Given the description of an element on the screen output the (x, y) to click on. 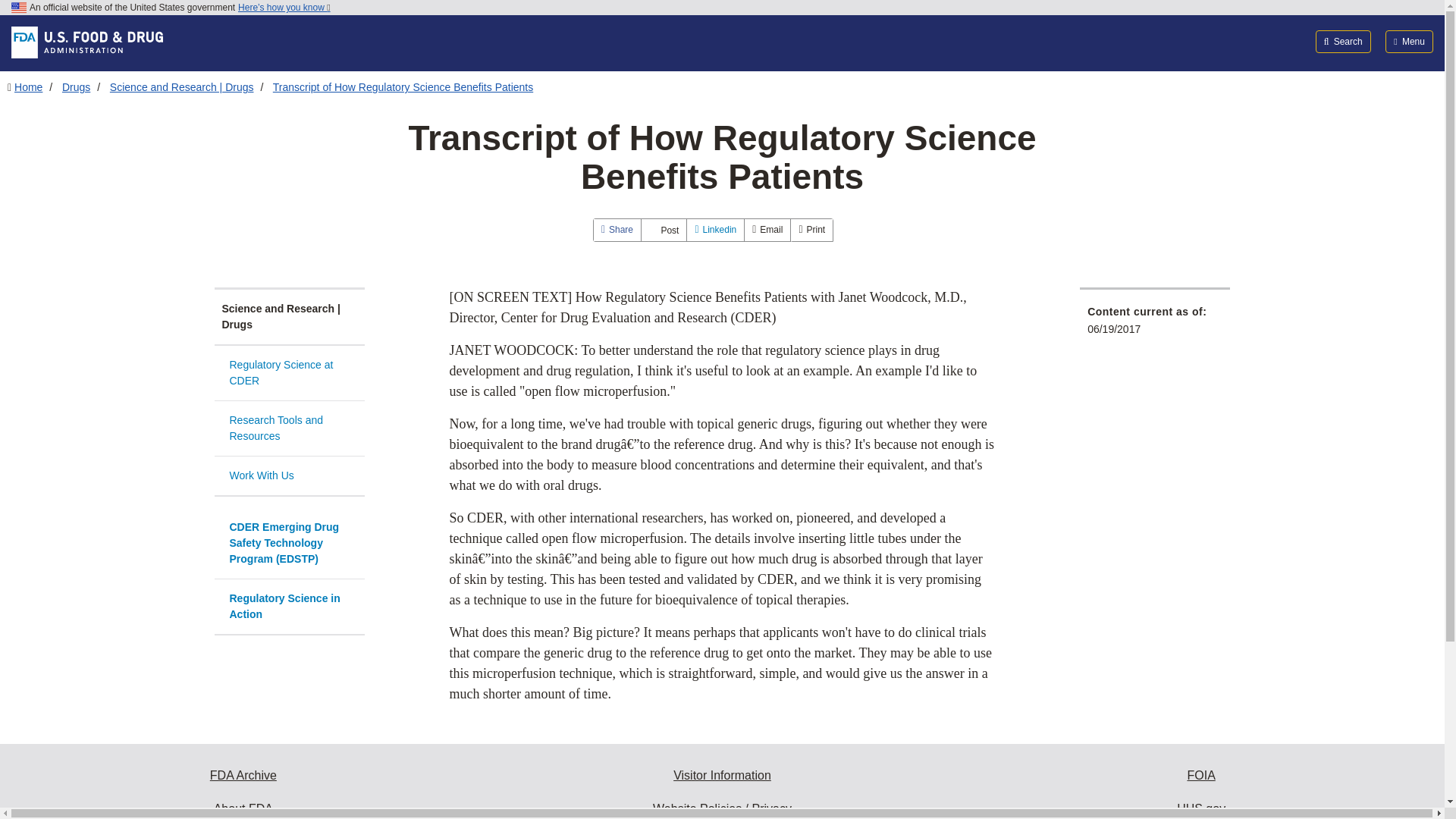
  Search (1343, 41)
Print this page (811, 229)
  Menu (1409, 41)
Freedom of Information Act (1200, 775)
Health and Human Services (1200, 805)
